Given the description of an element on the screen output the (x, y) to click on. 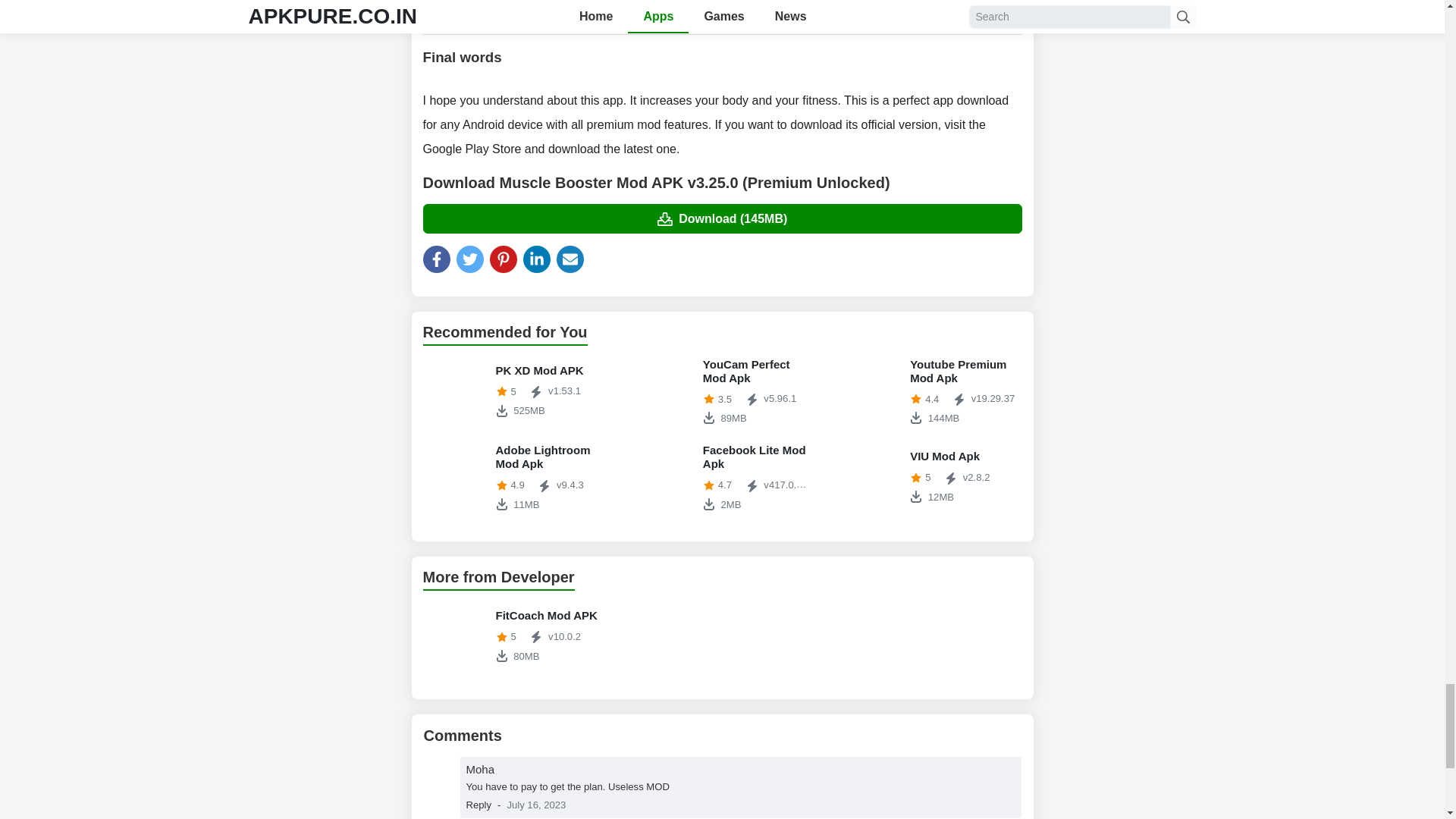
 Youtube Premium Mod Apk (721, 477)
 Adobe Lightroom Mod Apk (515, 635)
 PK XD Mod APK (929, 391)
 VIU Mod Apk (515, 477)
 YouCam Perfect Mod Apk (515, 477)
 Adobe Lightroom Mod Apk (456, 391)
 YouCam Perfect Mod Apk (929, 476)
 Facebook Lite Mod Apk (663, 391)
 Facebook Lite Mod Apk (929, 476)
